Given the description of an element on the screen output the (x, y) to click on. 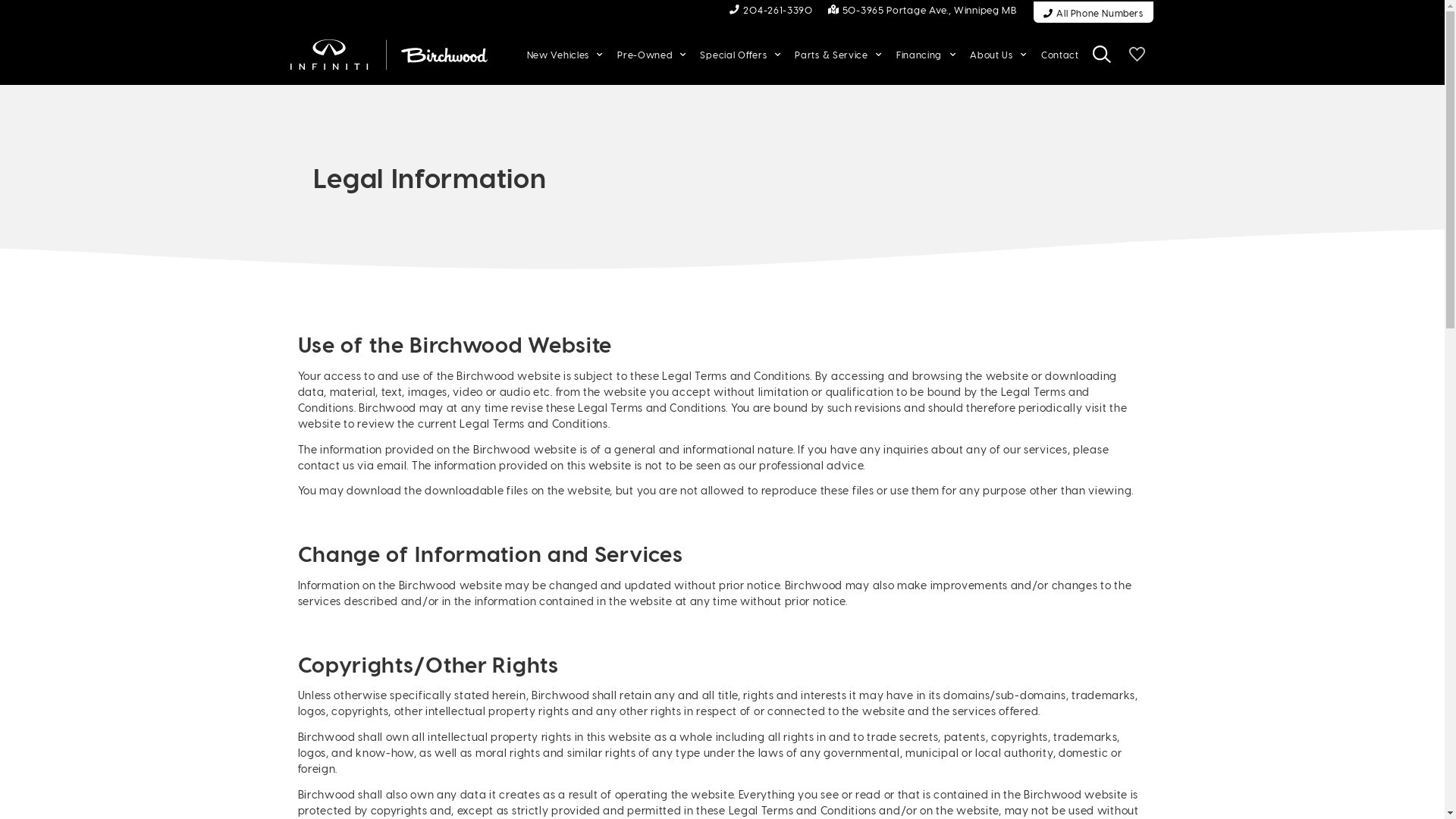
50-3965 Portage Ave. Winnipeg MB Element type: text (922, 9)
Contact Element type: text (1059, 54)
204-261-3390 Element type: text (770, 9)
Parts & Service Element type: text (838, 54)
About Us Element type: text (998, 54)
Pre-Owned Element type: text (650, 54)
Special Offers Element type: text (739, 54)
All Phone Numbers Element type: text (1093, 12)
New Vehicles Element type: text (564, 54)
Financing Element type: text (925, 54)
My Vehicles Element type: text (1136, 54)
